Given the description of an element on the screen output the (x, y) to click on. 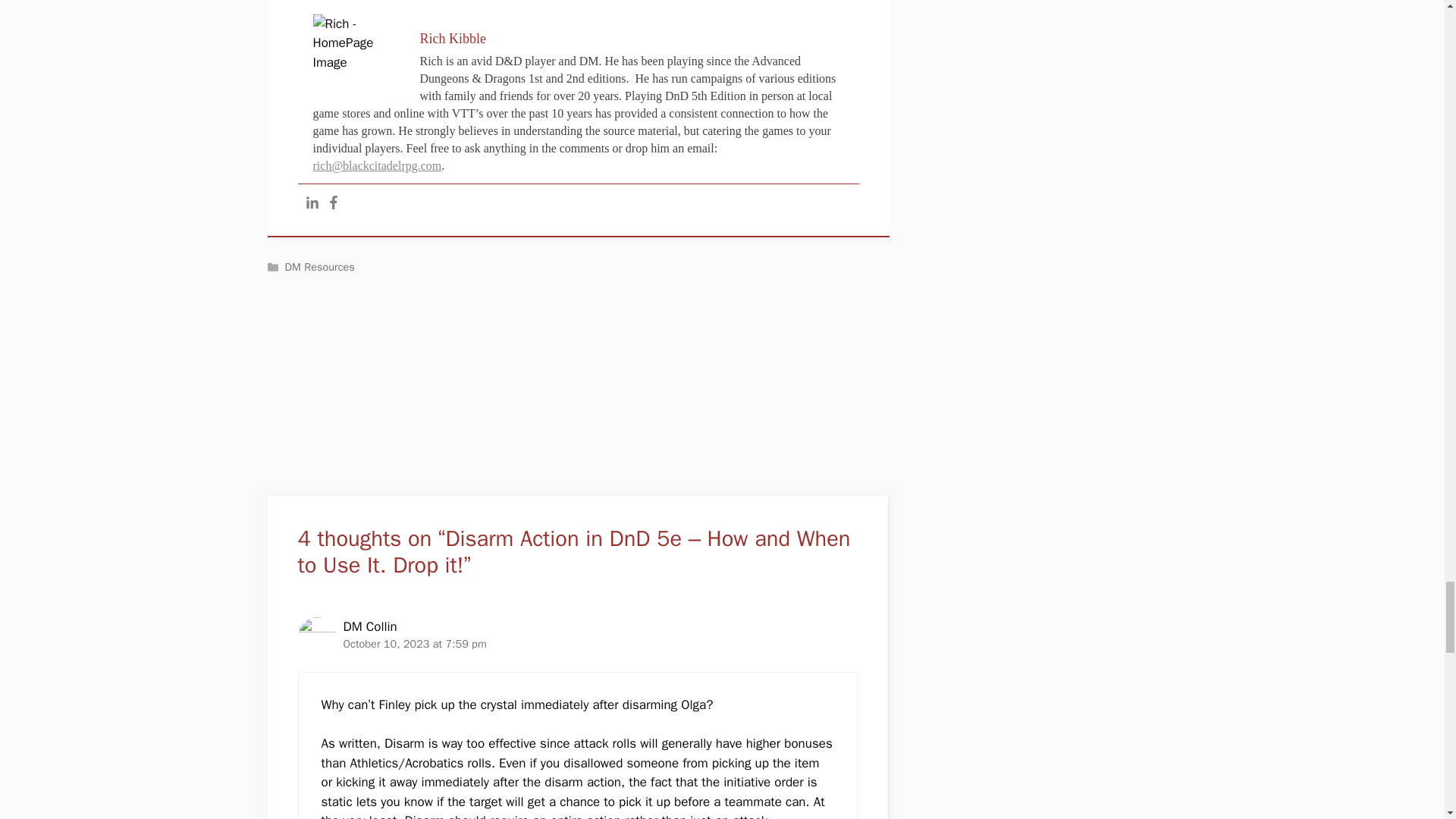
Facebook (332, 202)
Linkedin (311, 202)
